Given the description of an element on the screen output the (x, y) to click on. 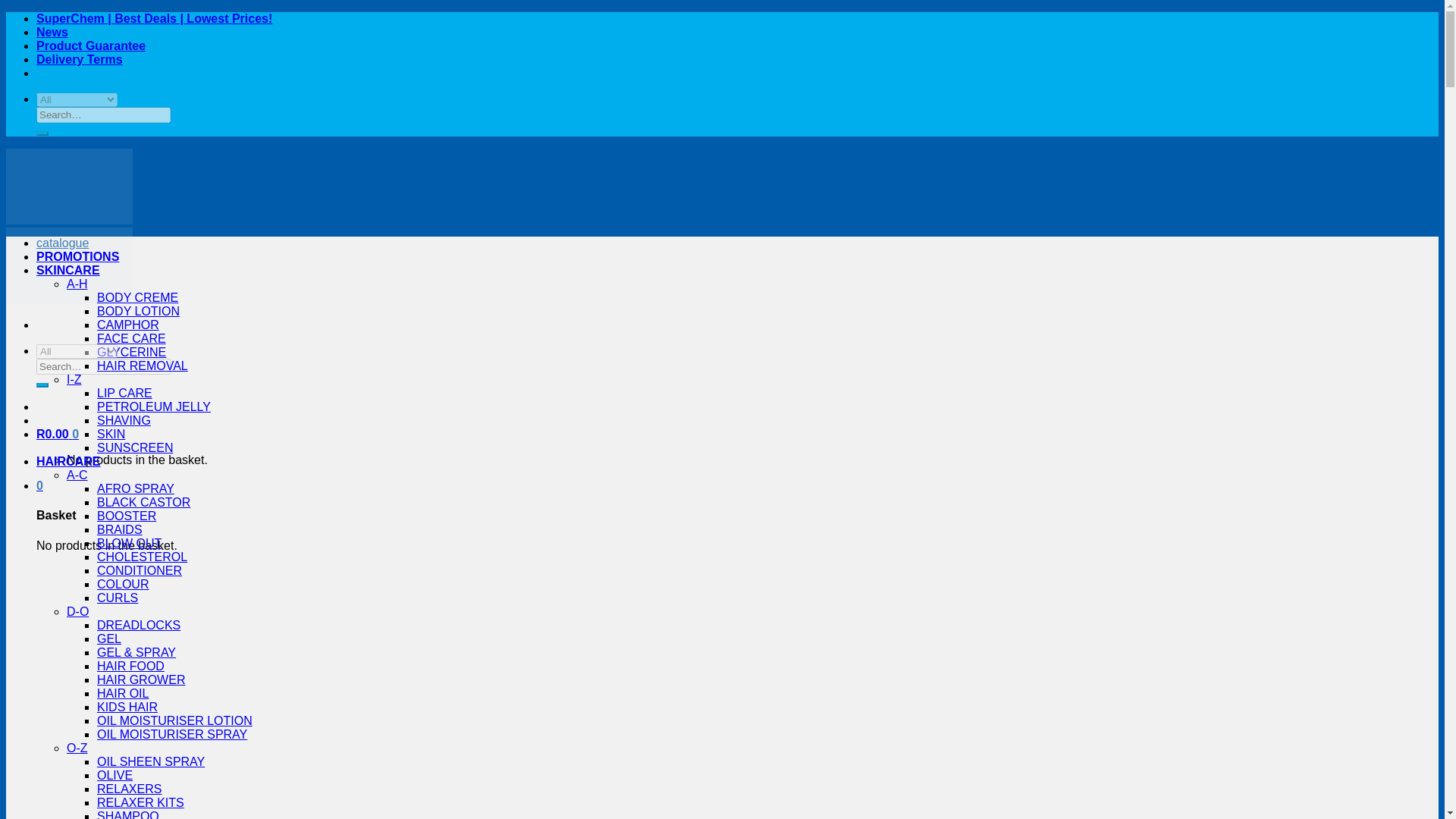
I-Z (73, 379)
COLOUR (122, 584)
Superchem - Your favourite brands at super prices (68, 259)
AFRO SPRAY (135, 488)
Product Guarantee (90, 45)
SHAVING (124, 420)
BLOW OUT (129, 543)
Basket (57, 433)
SUNSCREEN (135, 447)
PROMOTIONS (77, 256)
